Given the description of an element on the screen output the (x, y) to click on. 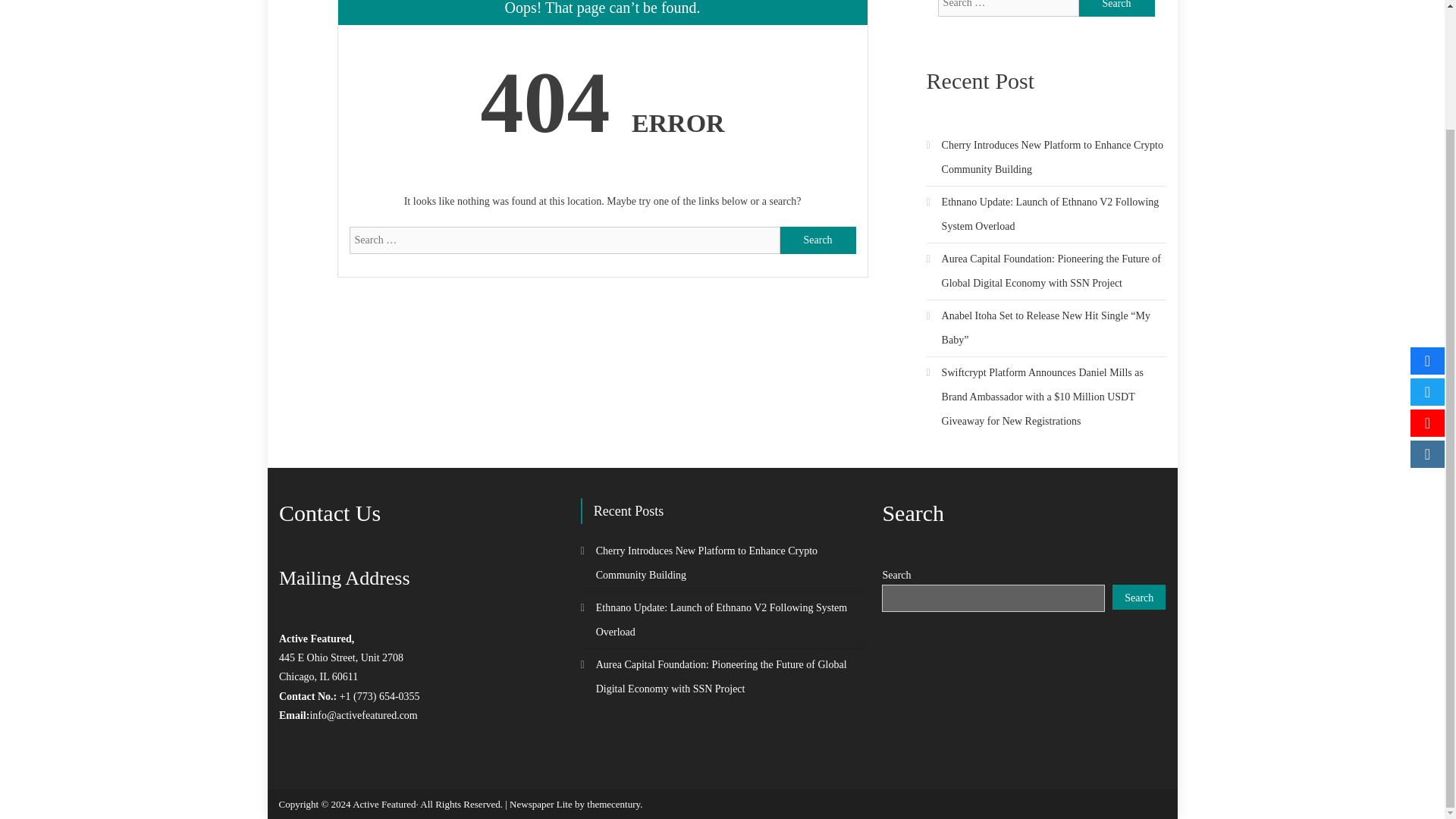
Search (818, 239)
Search (1116, 8)
Search (1116, 8)
themecentury (613, 803)
Search (818, 239)
Search (818, 239)
Search (1116, 8)
Search (1139, 596)
